Given the description of an element on the screen output the (x, y) to click on. 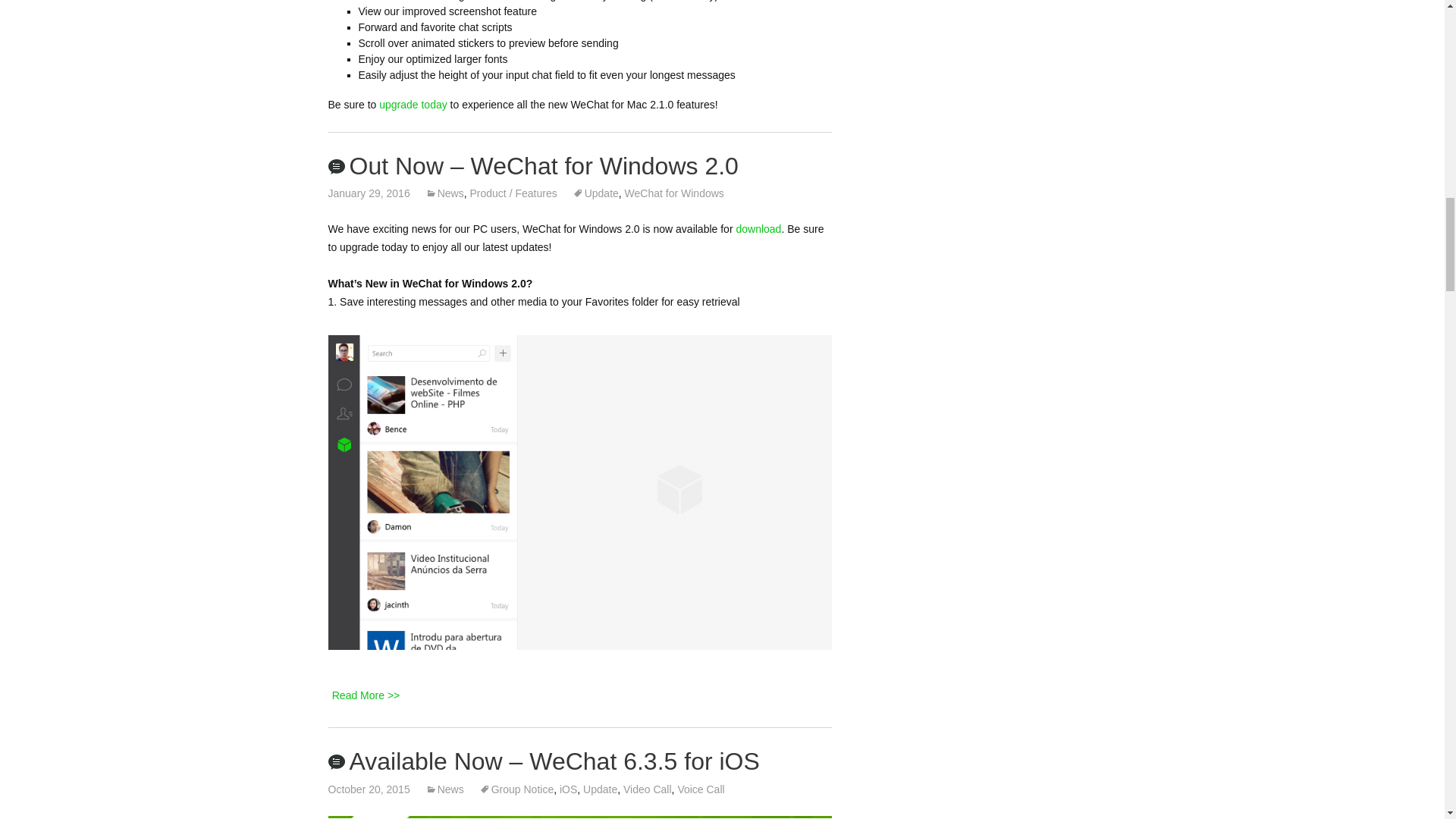
download (757, 228)
Update (595, 193)
upgrade today (412, 104)
January 29, 2016 (368, 193)
October 20, 2015 (368, 788)
News (444, 193)
iOS (567, 788)
News (444, 788)
Update (600, 788)
Video Call (647, 788)
